Given the description of an element on the screen output the (x, y) to click on. 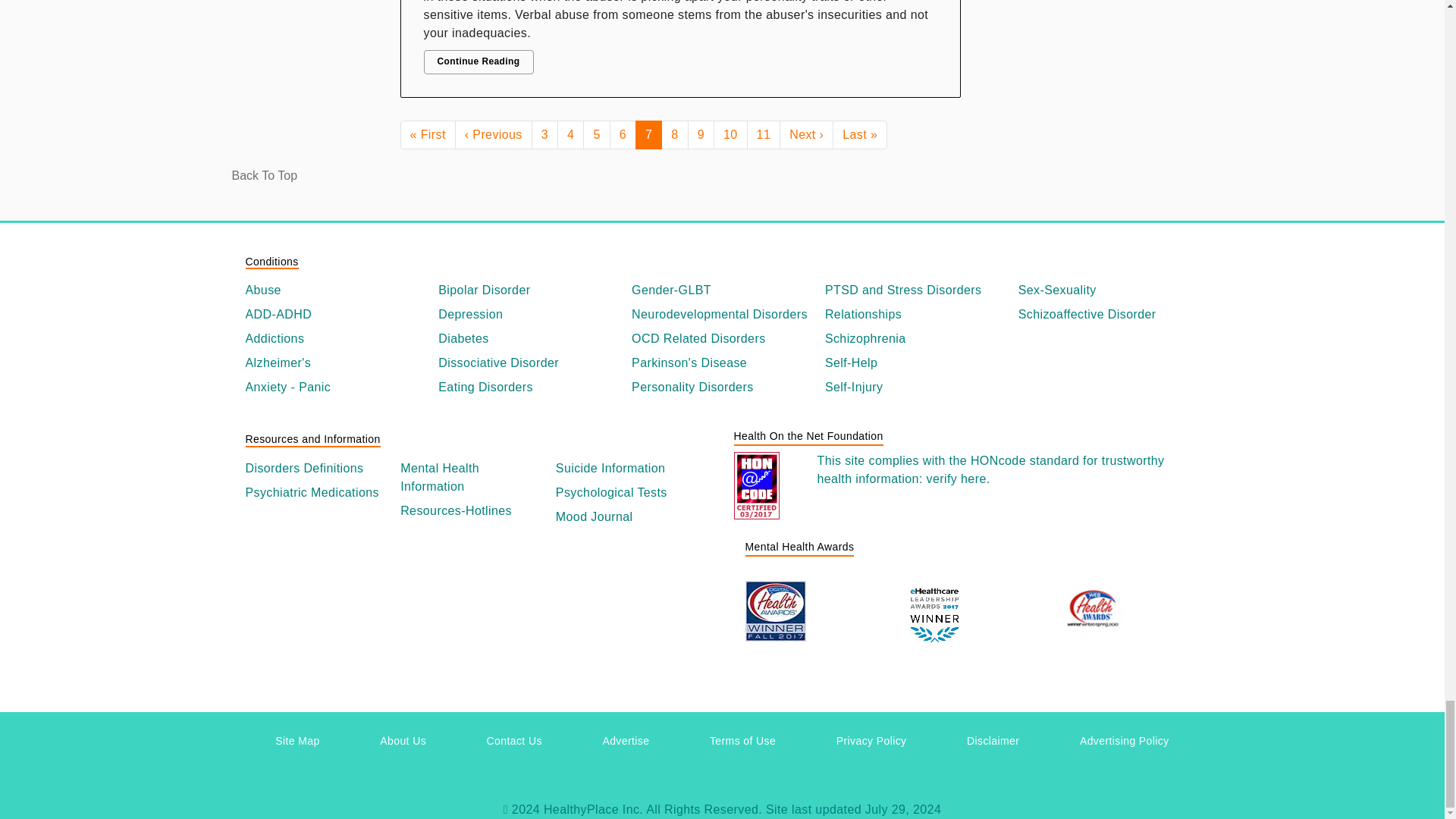
Go to page 5 (596, 134)
Go to previous page (493, 134)
Go to page 6 (623, 134)
Go to page 4 (570, 134)
Go to first page (427, 134)
Go to page 9 (700, 134)
Go to page 8 (674, 134)
Current page (648, 134)
Go to page 3 (544, 134)
